Given the description of an element on the screen output the (x, y) to click on. 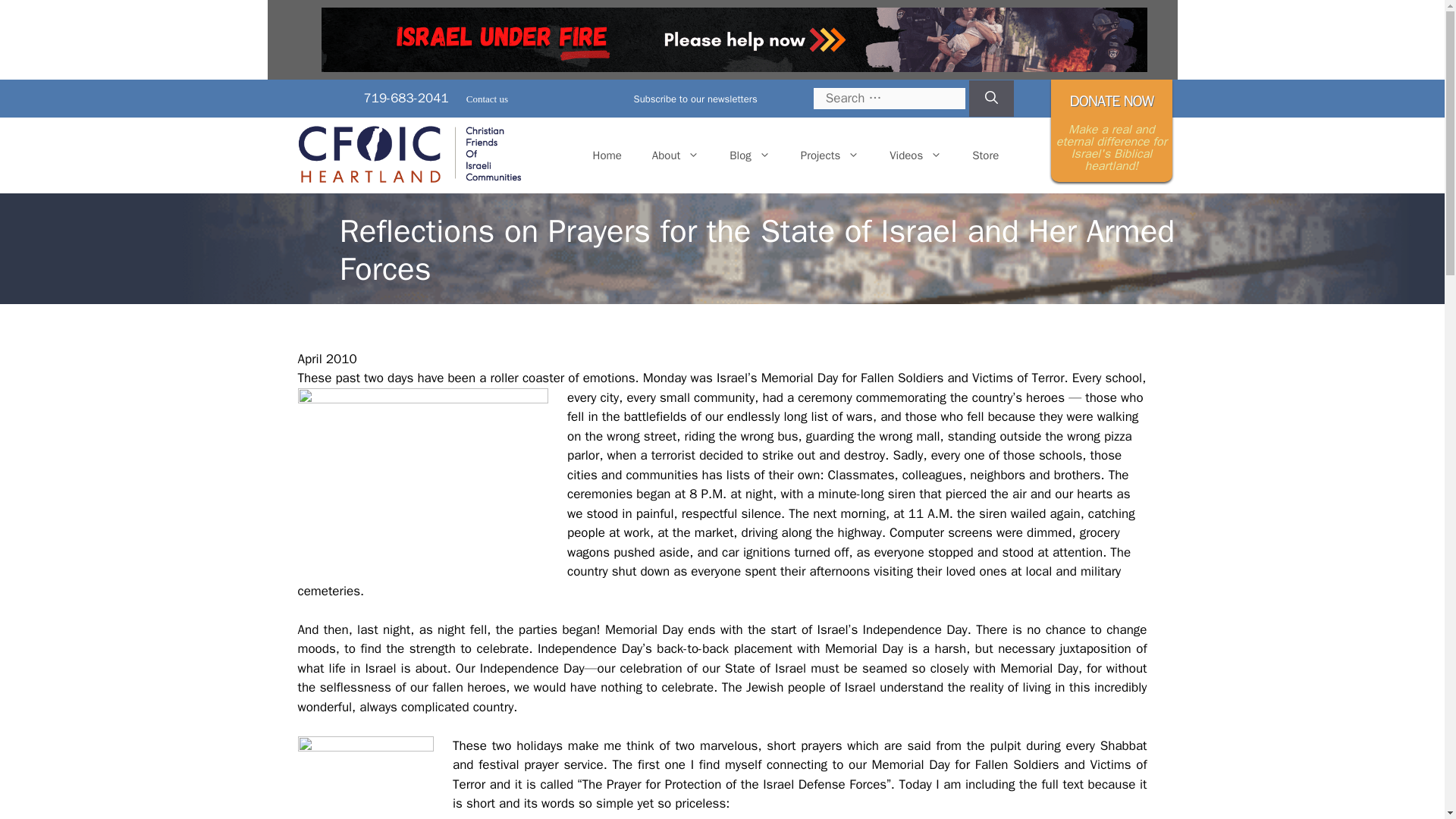
Home (607, 155)
Subscribe to our newsletters (685, 98)
Projects (830, 155)
Blog (749, 155)
Contact us (486, 98)
Israeli Soldiers (422, 479)
About (675, 155)
Search for: (889, 97)
